Given the description of an element on the screen output the (x, y) to click on. 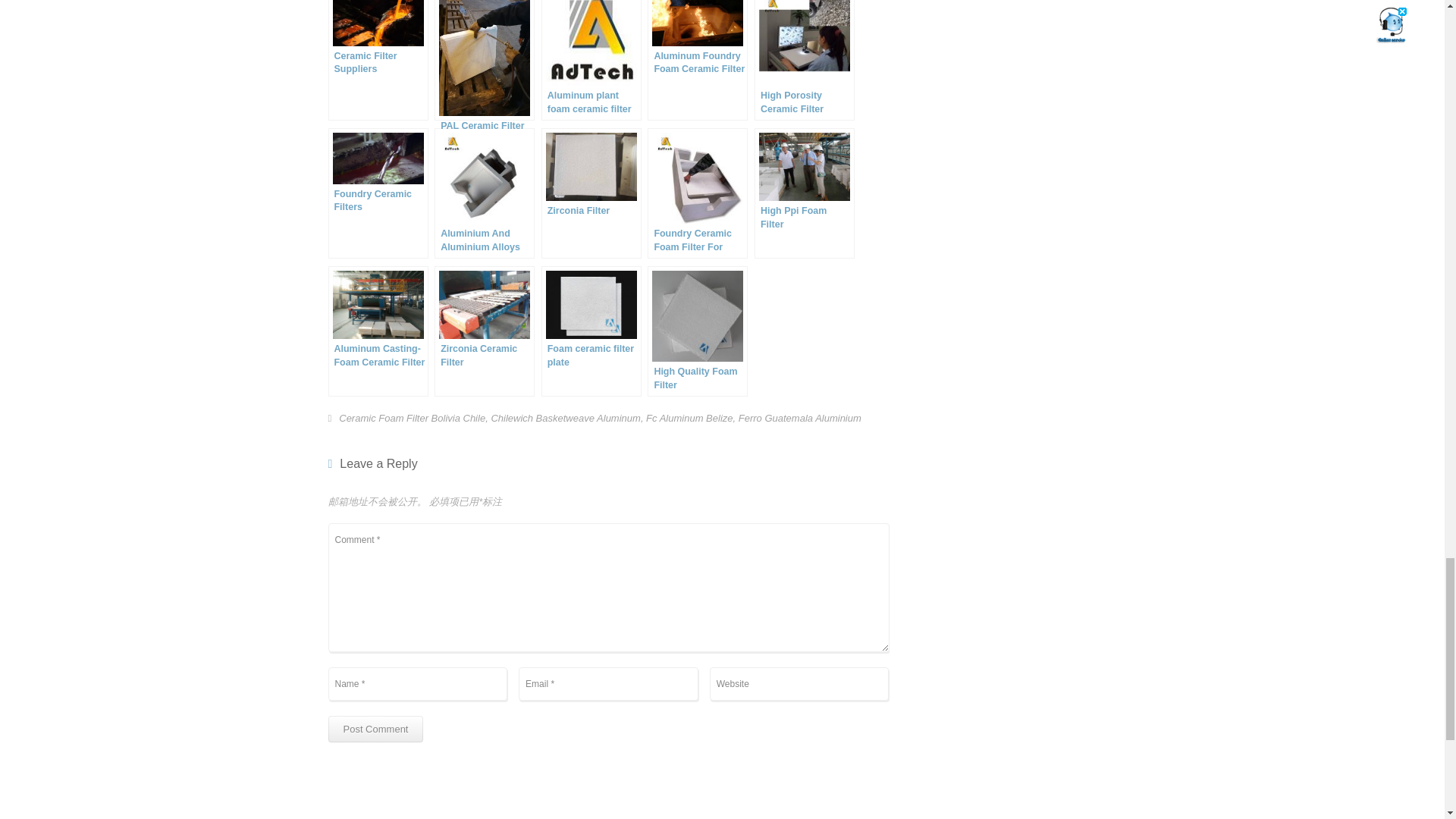
Post Comment (375, 728)
Ceramic Foam Filter Bolivia Chile (411, 418)
Ferro Guatemala Aluminium (799, 418)
Post Comment (375, 728)
Website (799, 684)
Chilewich Basketweave Aluminum (565, 418)
Fc Aluminum Belize (689, 418)
